Given the description of an element on the screen output the (x, y) to click on. 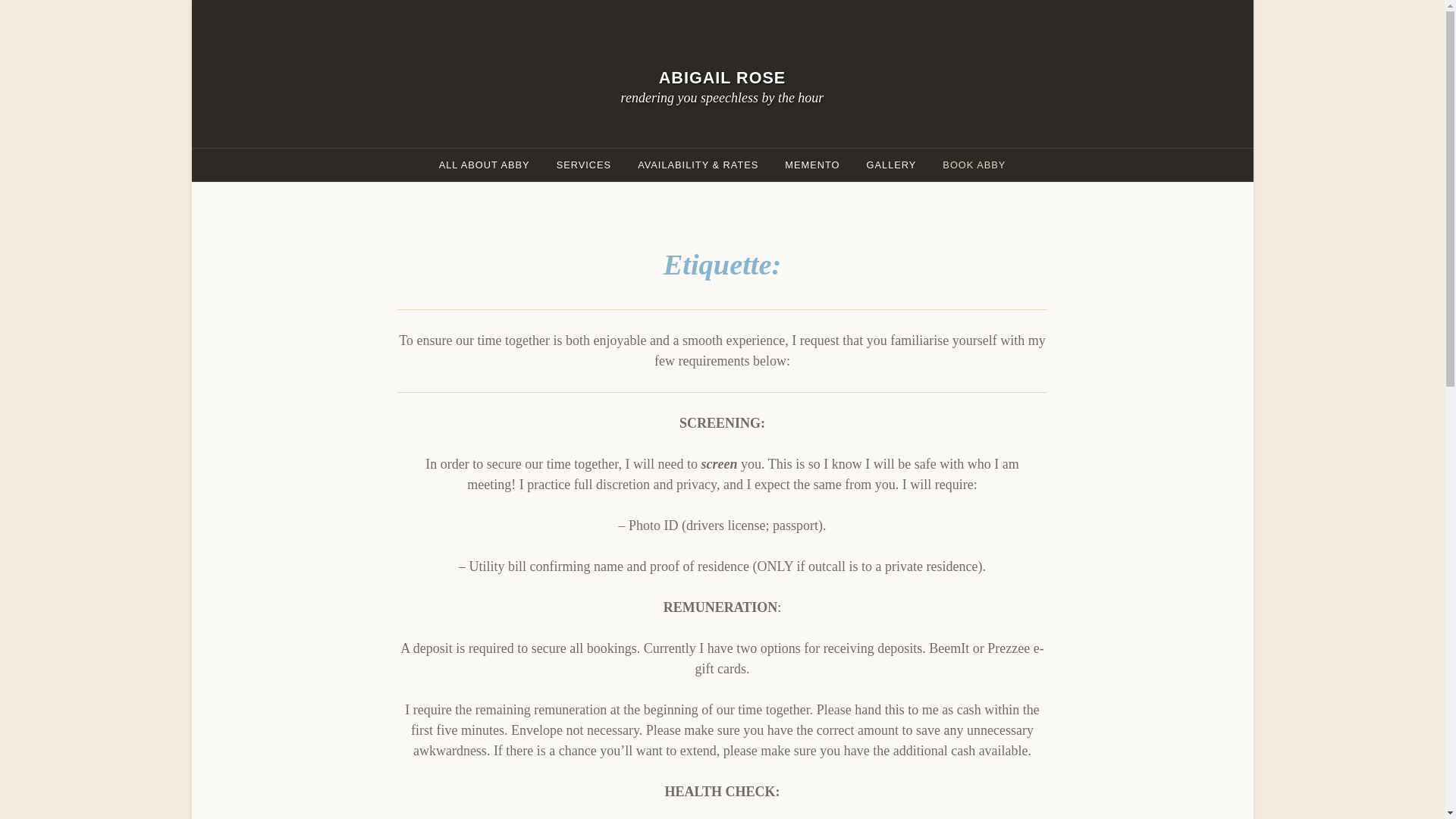
MEMENTO (811, 164)
ALL ABOUT ABBY (484, 164)
ABIGAIL ROSE (722, 76)
SERVICES (583, 164)
BOOK ABBY (973, 164)
Abigail Rose (722, 76)
GALLERY (892, 164)
